Given the description of an element on the screen output the (x, y) to click on. 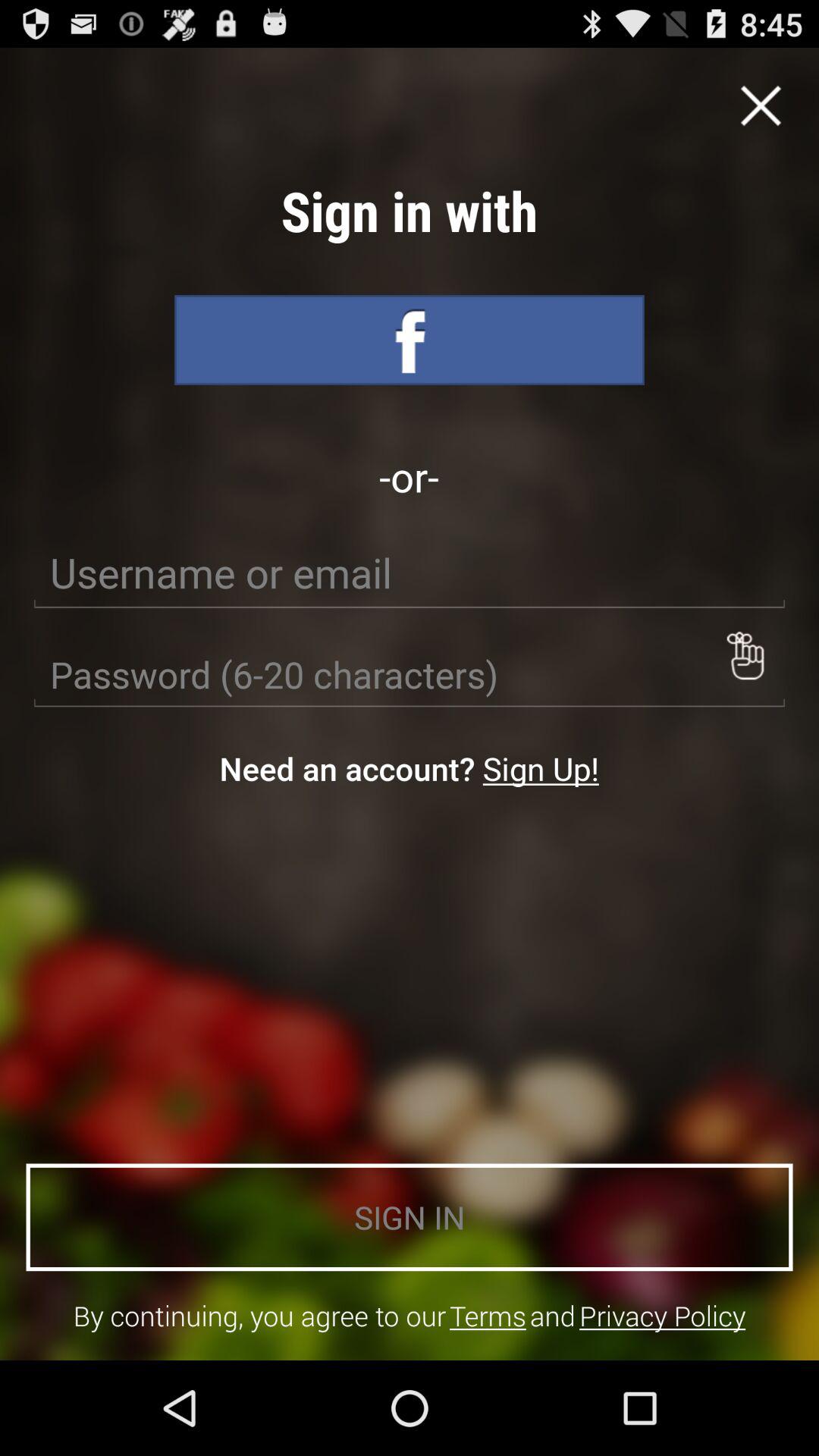
swipe until the terms icon (487, 1315)
